Given the description of an element on the screen output the (x, y) to click on. 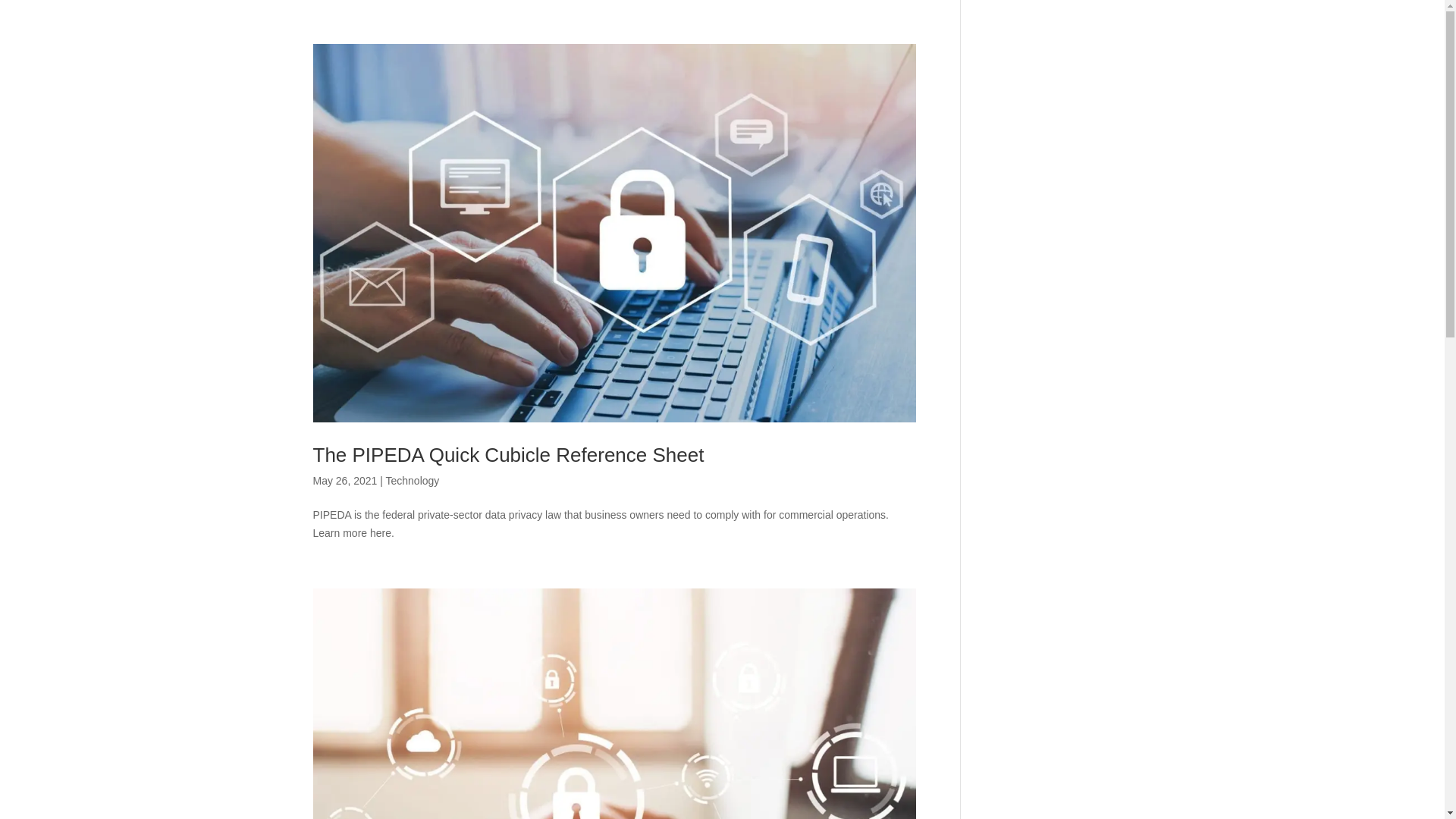
The PIPEDA Quick Cubicle Reference Sheet (508, 454)
Technology (412, 480)
